Given the description of an element on the screen output the (x, y) to click on. 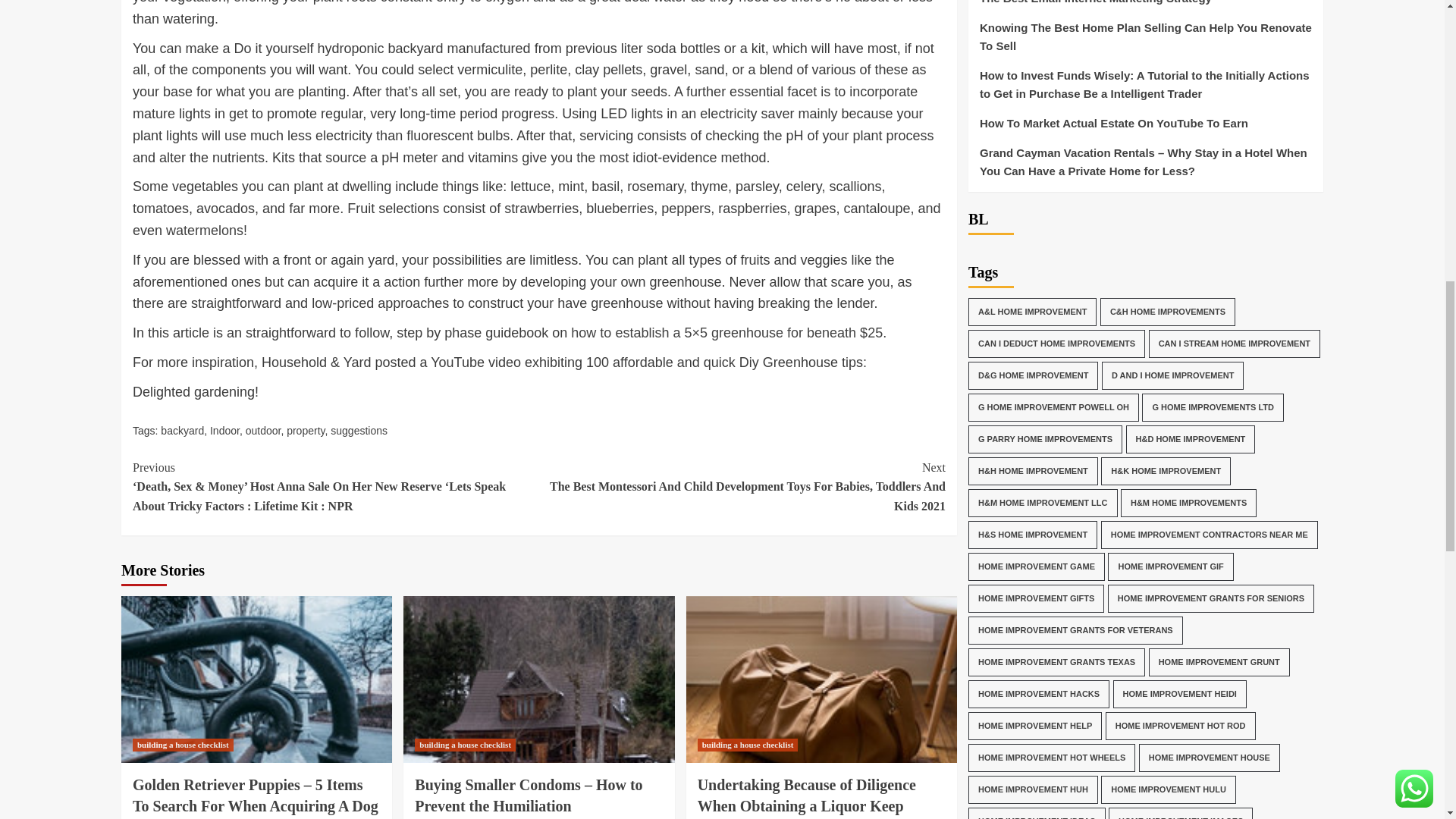
suggestions (358, 430)
watermelons (204, 230)
property (305, 430)
Indoor (224, 430)
building a house checklist (182, 744)
backyard (181, 430)
outdoor (263, 430)
